Given the description of an element on the screen output the (x, y) to click on. 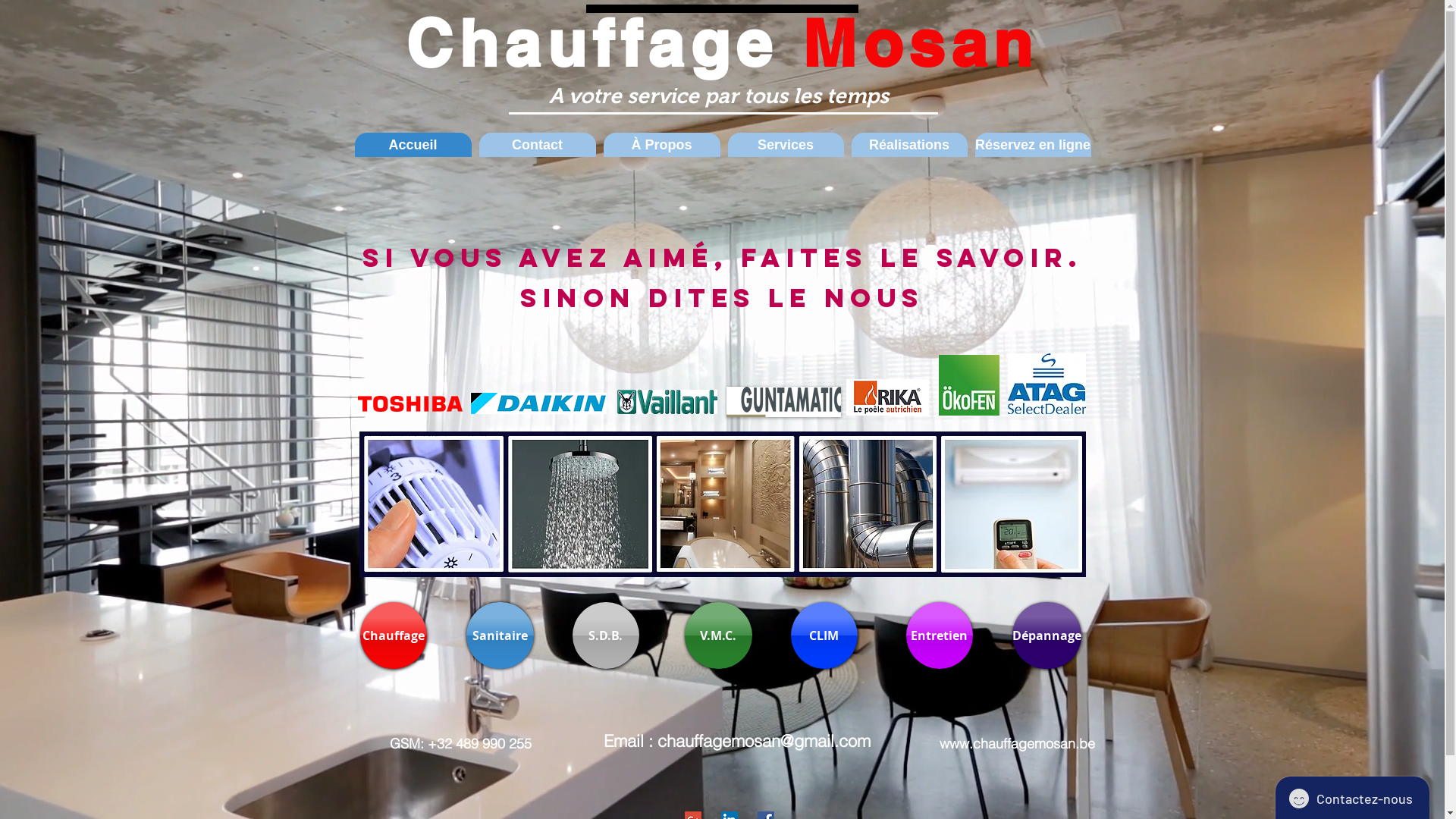
Sanitaire Element type: text (499, 635)
Accueil Element type: text (412, 144)
S.D.B. Element type: text (604, 635)
www.chauffagemosan.be Element type: text (1016, 743)
Contact Element type: text (537, 144)
Chauffage Element type: text (392, 635)
Entretien Element type: text (938, 635)
V.M.C. Element type: text (717, 635)
chauffagemosan@gmail.com Element type: text (762, 740)
image general.jpg Element type: hover (721, 504)
CLIM Element type: text (823, 635)
Services Element type: text (786, 144)
